Given the description of an element on the screen output the (x, y) to click on. 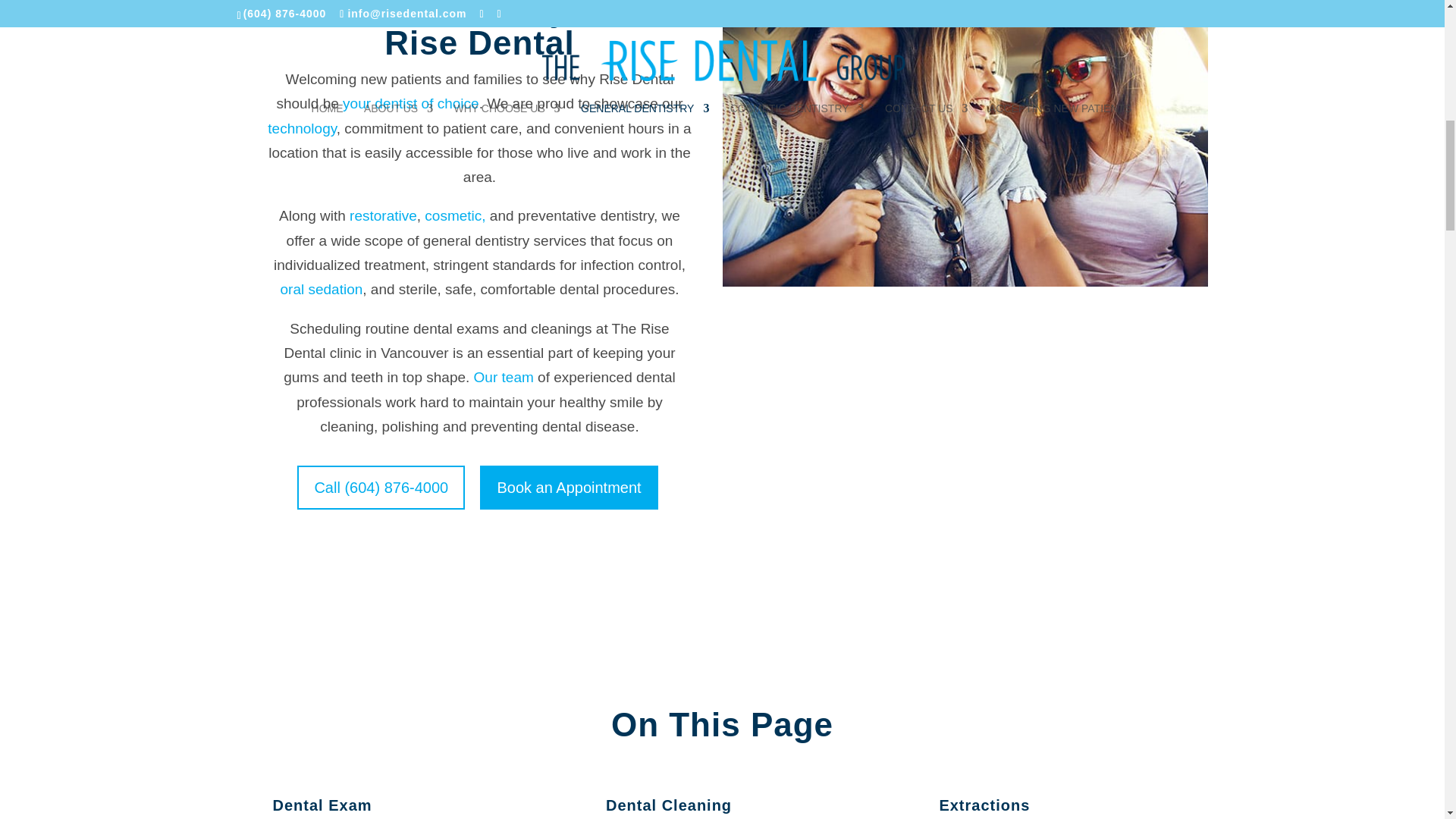
Restorative Dentistry (382, 215)
Cosmetic Dentistry (454, 215)
your dentist of choice (410, 103)
